Given the description of an element on the screen output the (x, y) to click on. 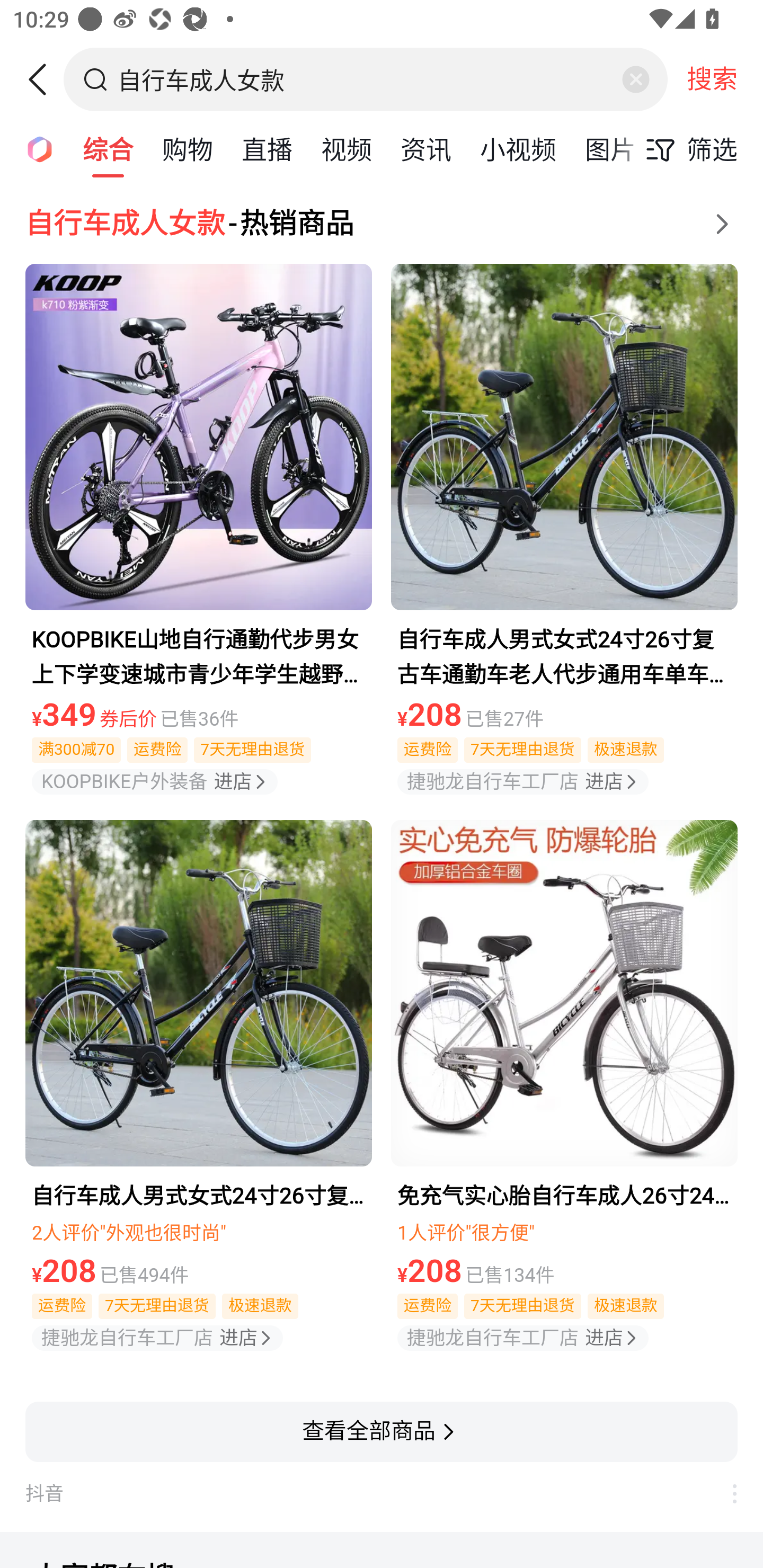
搜索框，自行车成人女款 (366, 79)
搜索 (711, 79)
返回 (44, 79)
清除 (635, 79)
购物 (187, 148)
直播 (266, 148)
视频 (346, 148)
资讯 (425, 148)
小视频 (517, 148)
图片 (610, 148)
筛选 (686, 149)
AI问答 (34, 148)
自行车成人女款 -热销商品 (381, 223)
查看全部商品 (381, 1431)
抖音 (368, 1493)
举报反馈 (724, 1493)
